Given the description of an element on the screen output the (x, y) to click on. 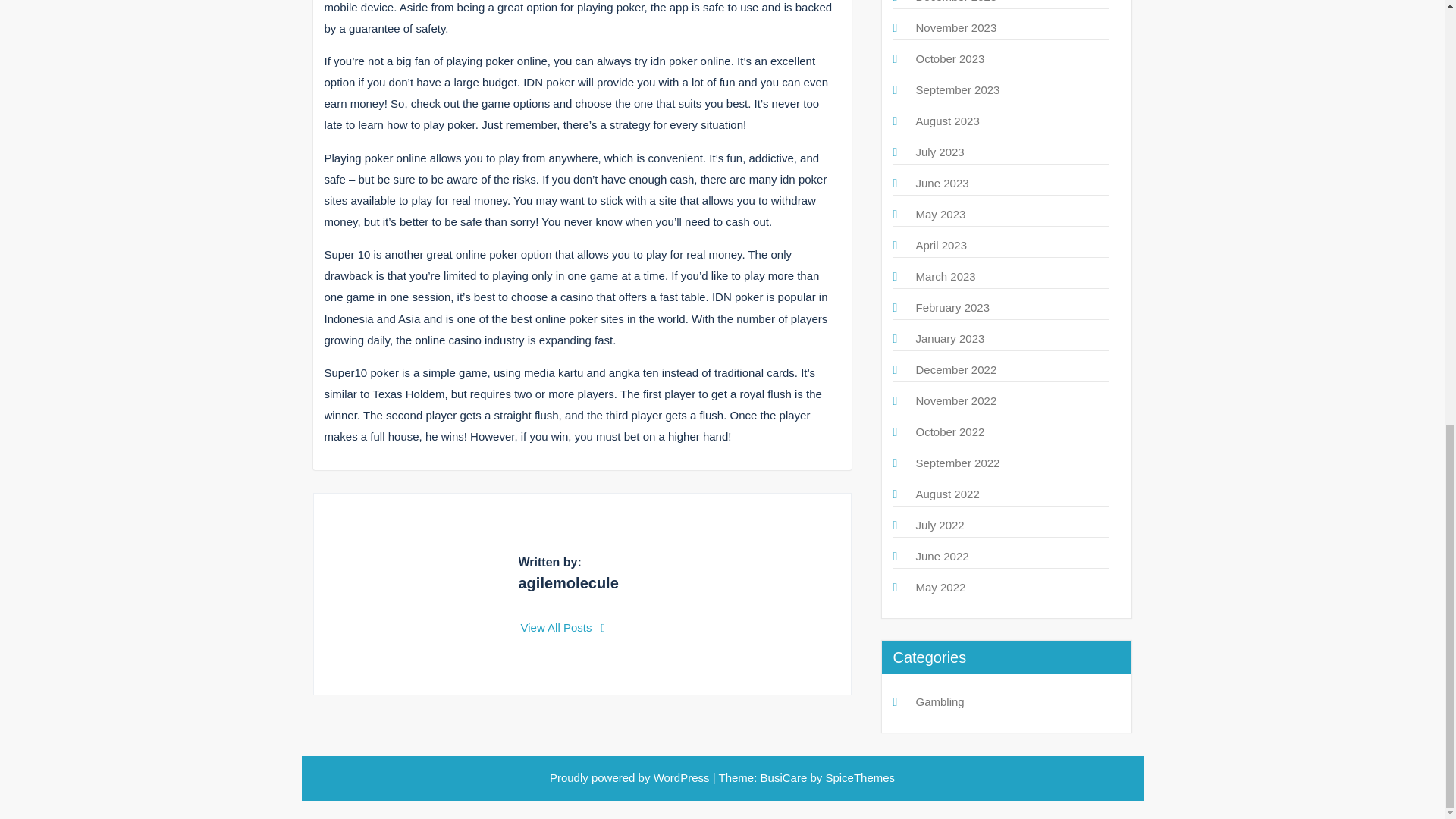
May 2023 (940, 214)
November 2022 (956, 400)
December 2023 (956, 1)
June 2023 (942, 182)
July 2022 (939, 524)
View All Posts (562, 626)
October 2022 (950, 431)
November 2023 (956, 27)
January 2023 (950, 338)
September 2023 (957, 89)
August 2022 (947, 493)
October 2023 (950, 58)
March 2023 (945, 276)
May 2022 (940, 586)
August 2023 (947, 120)
